Given the description of an element on the screen output the (x, y) to click on. 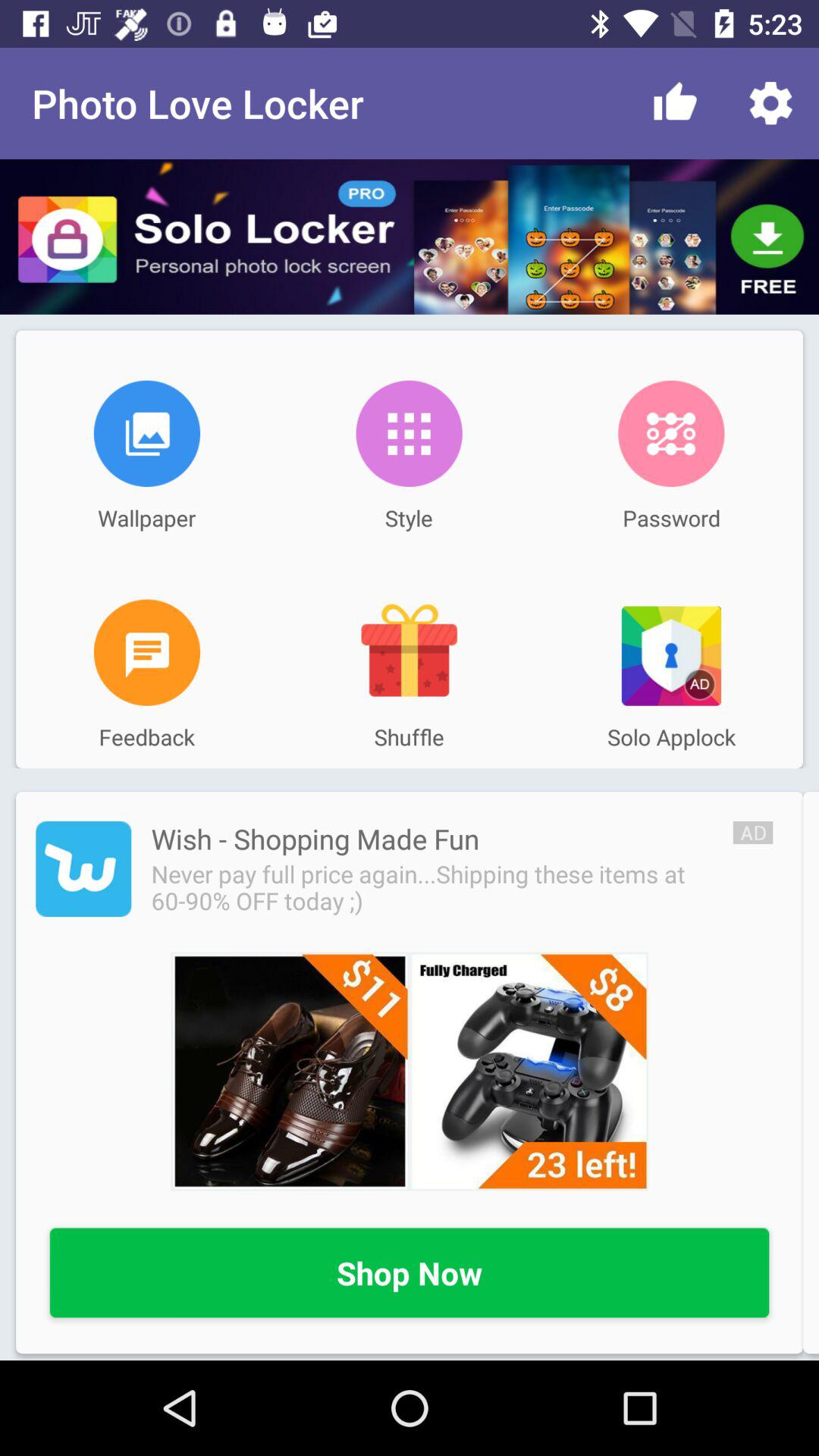
tap the icon next to password icon (409, 433)
